Given the description of an element on the screen output the (x, y) to click on. 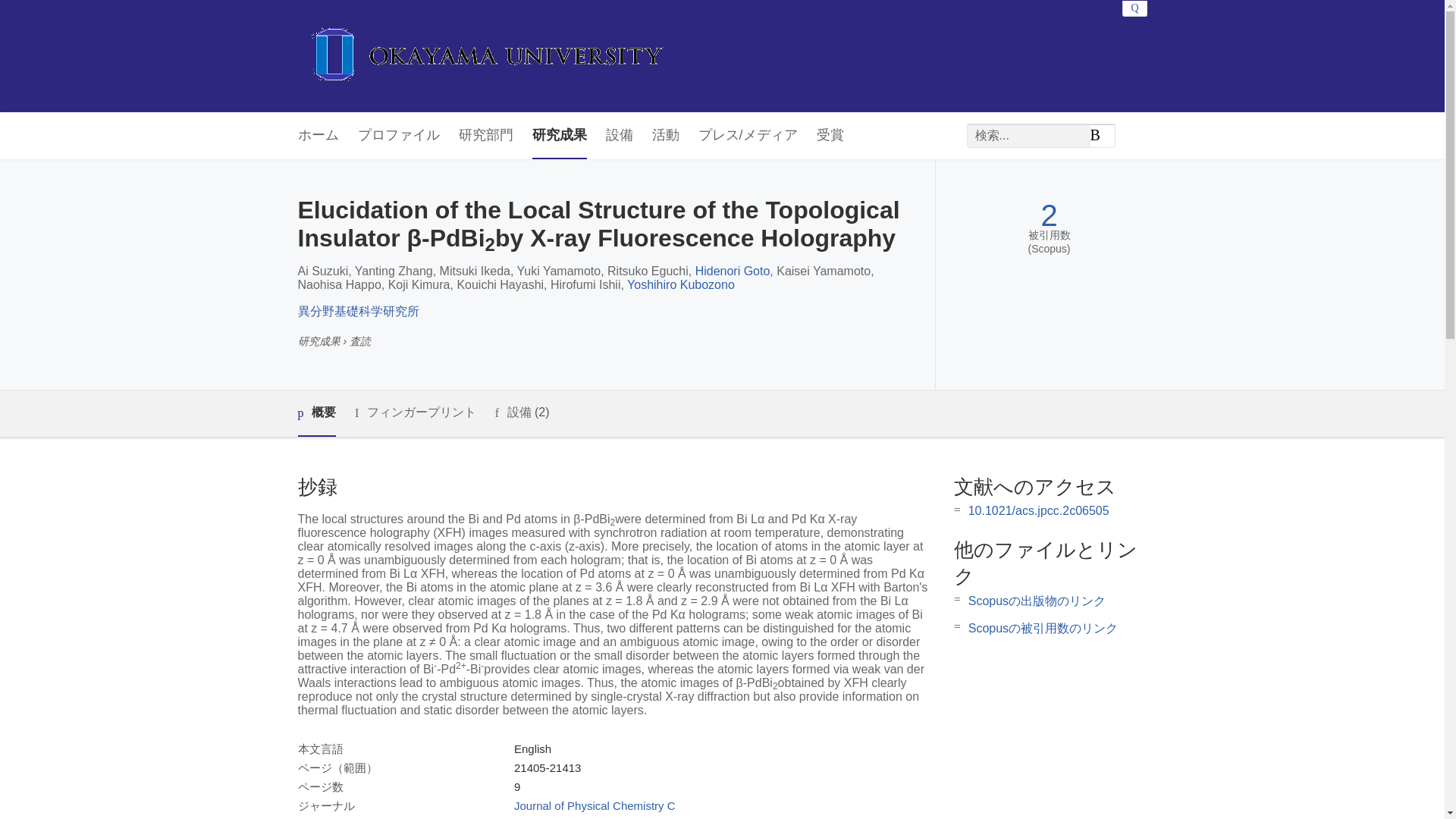
Hidenori Goto (732, 270)
Journal of Physical Chemistry C (594, 805)
Yoshihiro Kubozono (681, 284)
